Given the description of an element on the screen output the (x, y) to click on. 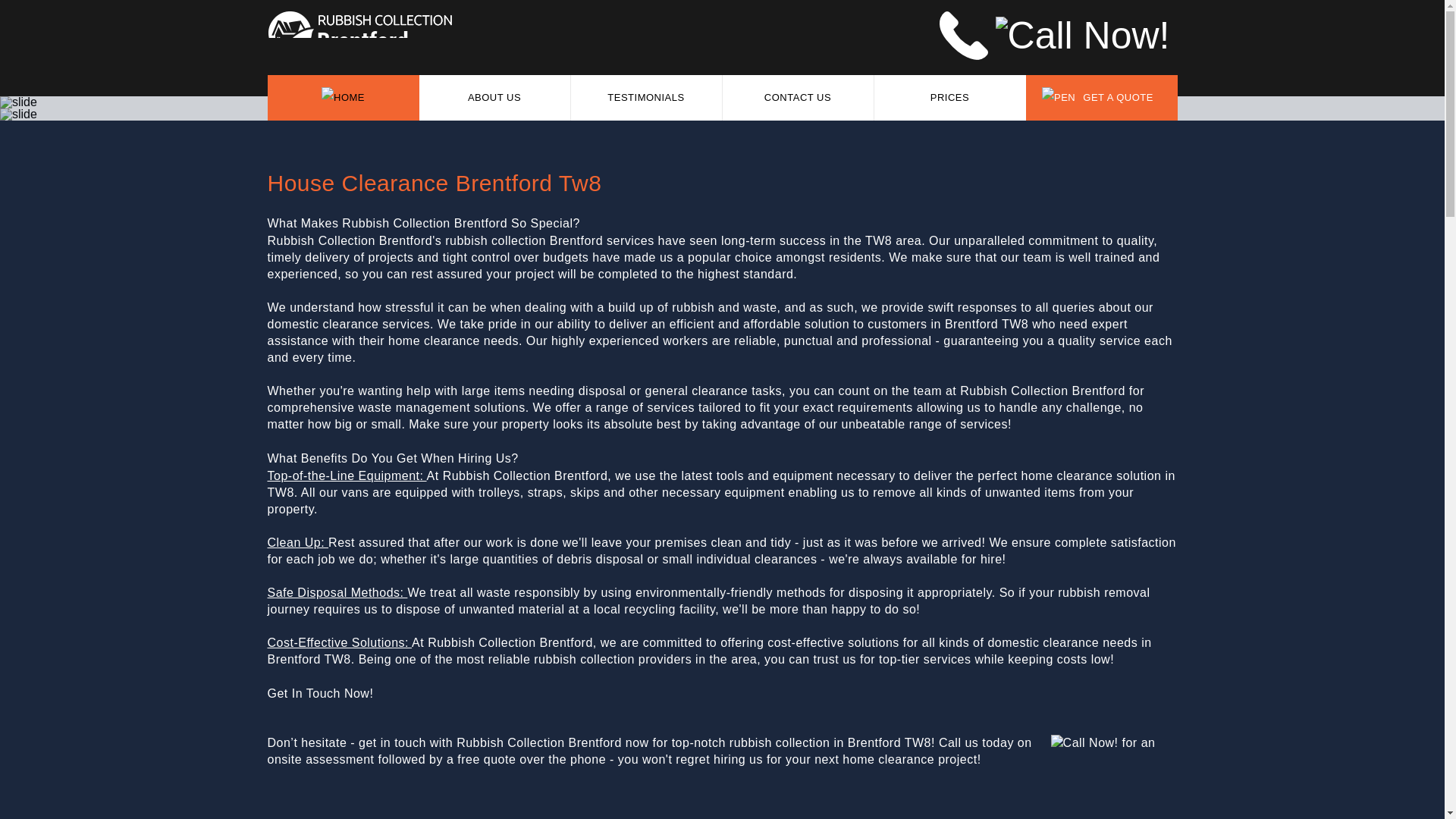
CONTACT US (797, 97)
PRICES (949, 97)
Call Now! (1076, 742)
TESTIMONIALS (646, 97)
Call Now! (1086, 32)
GET A QUOTE (1100, 97)
ABOUT US (494, 97)
